Given the description of an element on the screen output the (x, y) to click on. 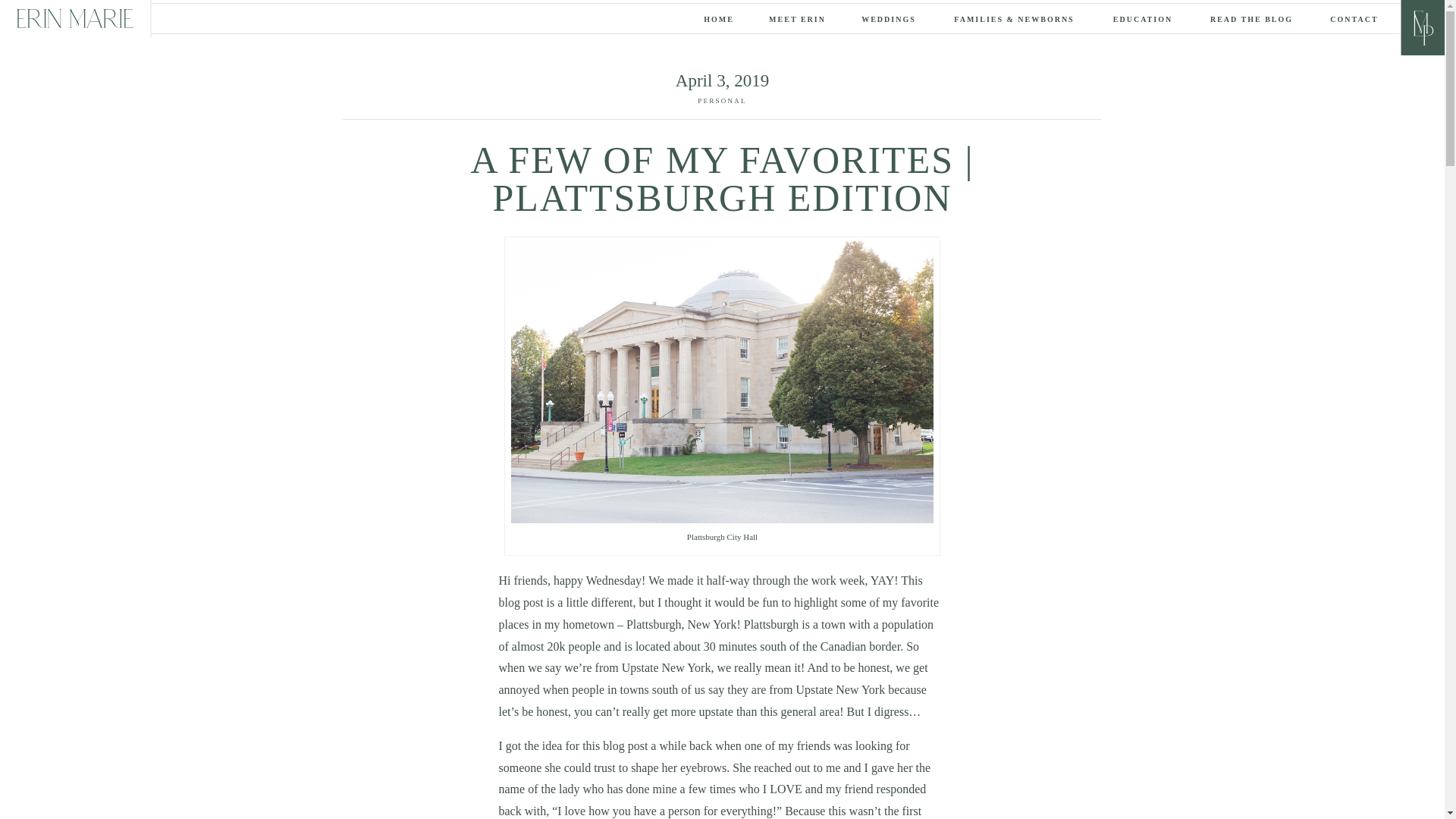
READ THE BLOG (1251, 18)
MEET ERIN (797, 18)
HOME (719, 18)
PERSONAL (721, 100)
WEDDINGS (888, 18)
EDUCATION (1142, 18)
CONTACT (1353, 18)
